Given the description of an element on the screen output the (x, y) to click on. 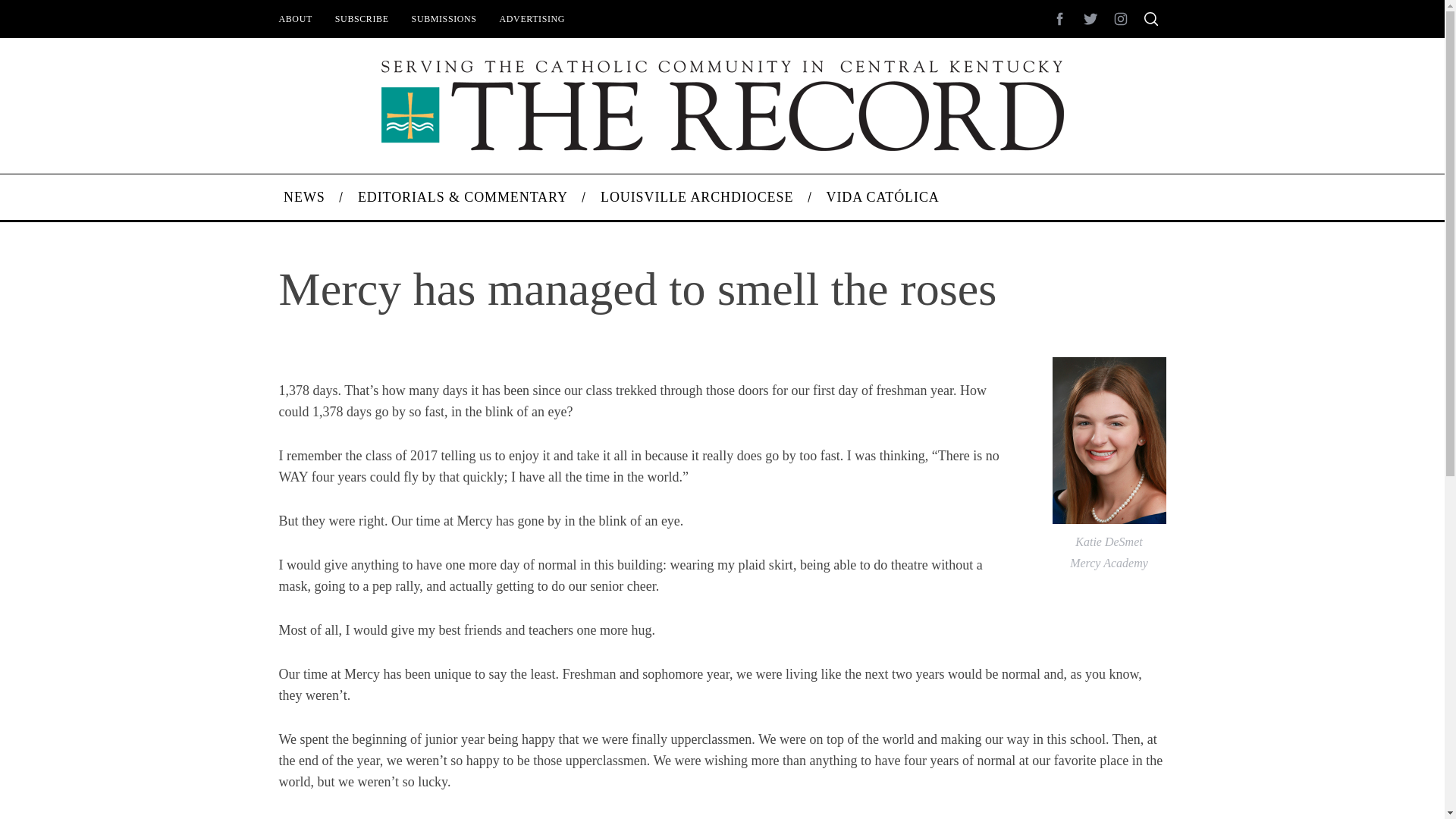
NEWS (303, 197)
SUBMISSIONS (443, 18)
SUBSCRIBE (361, 18)
ADVERTISING (531, 18)
ABOUT (294, 18)
